Given the description of an element on the screen output the (x, y) to click on. 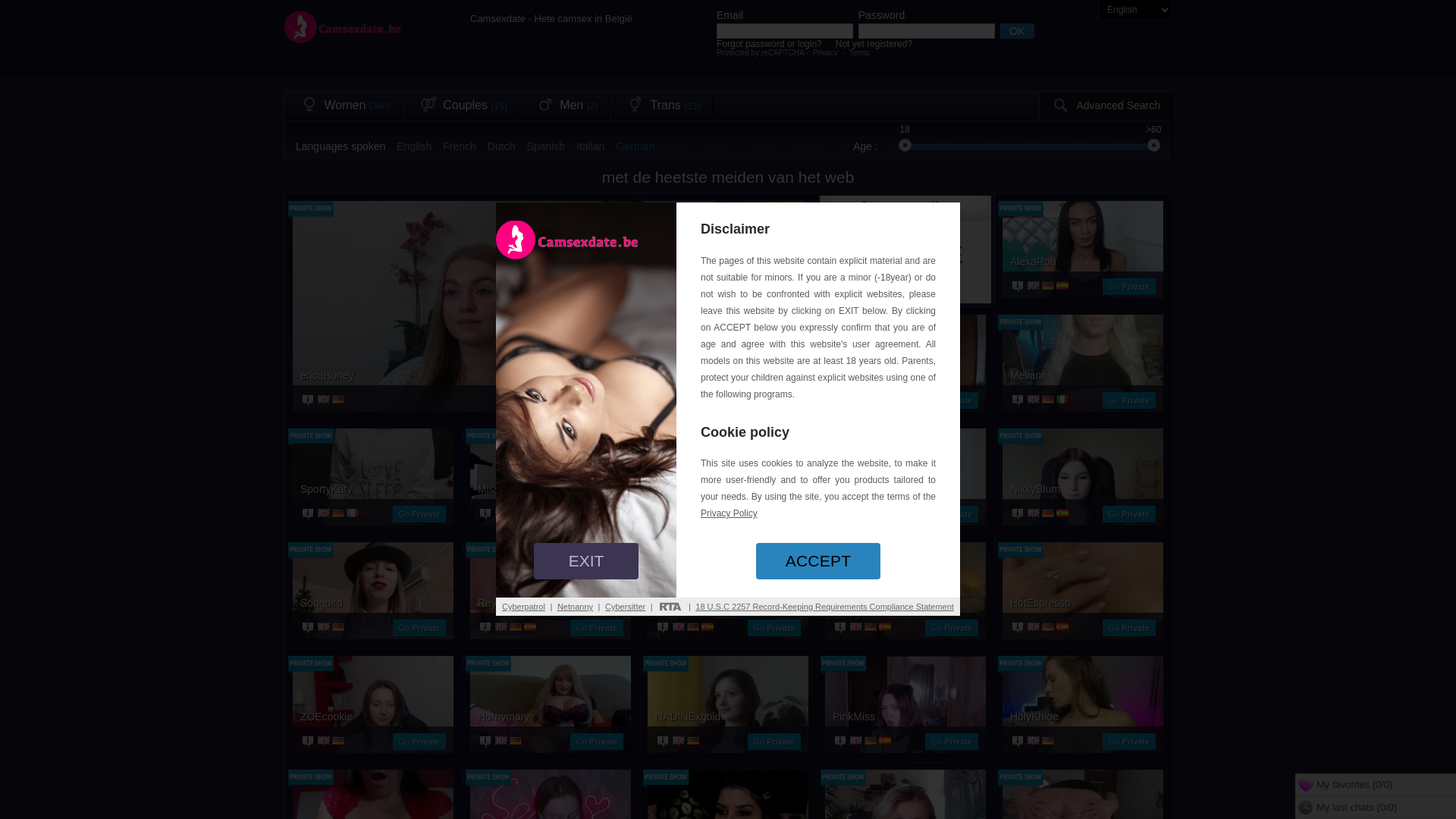
Profile Element type: text (486, 741)
Profile Element type: text (663, 514)
ACCEPT Element type: text (818, 560)
Profile Element type: text (663, 741)
At least 4 characters Element type: hover (784, 30)
Spanish Element type: text (545, 146)
Terms Element type: text (859, 52)
Privacy Policy Element type: text (728, 513)
Profile Element type: text (486, 627)
MissKathleen - Sexcam Element type: hover (550, 488)
Go Private Element type: text (418, 741)
PinkMiss - Sexcam Element type: hover (905, 715)
French Element type: text (459, 146)
Netnanny Element type: text (575, 606)
Profile Element type: text (663, 400)
Go Private Element type: text (596, 741)
Go Private Element type: text (1128, 400)
Go Private Element type: text (951, 513)
Songbird - Sexcam Element type: hover (372, 602)
Profile Element type: text (663, 627)
Cyberpatrol Element type: text (523, 606)
At least 5 characters Element type: hover (926, 30)
Go Private Element type: text (1128, 627)
Baiser - Sexcam Element type: hover (727, 602)
BriannaDans - Sexcam Element type: hover (905, 602)
Profile Element type: text (1018, 514)
SportyKaty - Sexcam Element type: hover (372, 488)
HotEspresso - Sexcam Element type: hover (1082, 602)
Go Private Element type: text (418, 513)
ReynaJones - Sexcam Element type: hover (550, 602)
AlexaRoa - Sexcam Element type: hover (1082, 260)
English Element type: text (413, 146)
Profile Element type: text (1018, 741)
NADINExgold - Sexcam Element type: hover (727, 715)
Go Private Element type: text (773, 400)
Women (340) Element type: text (343, 105)
Men (2) Element type: text (564, 105)
German Element type: text (634, 146)
Go Private Element type: text (951, 627)
Profile Element type: text (1018, 400)
LadyAngel - Sexcam Element type: hover (727, 374)
Privacy Element type: text (824, 52)
Go Private Element type: text (773, 513)
MistyLady - Sexcam Element type: hover (905, 488)
ZOEcookie - Sexcam Element type: hover (372, 715)
Mellanii - Sexcam Element type: hover (1082, 374)
Cybersitter Element type: text (625, 606)
SexCommune - Sexcam Element type: hover (727, 260)
Go Private Element type: text (773, 627)
Go Private Element type: text (1128, 741)
Discovery offer
25
CREDITS
FREE
Sign me up! Element type: text (905, 230)
Italian Element type: text (590, 146)
MargotTEASE - Sexcam Element type: hover (905, 374)
Not yet registered? Element type: text (873, 43)
Profile Element type: text (840, 514)
Go Private Element type: text (596, 513)
Go Private Element type: text (1128, 286)
Go Private Element type: text (418, 627)
Profile Element type: text (308, 400)
Profile Element type: text (840, 627)
Profile Element type: text (308, 741)
Go Private Element type: text (596, 627)
Go Private Element type: text (773, 286)
Profile Element type: text (840, 400)
OK Element type: text (1016, 30)
Profile Element type: text (1018, 286)
Hornymary - Sexcam Element type: hover (550, 715)
EmilySense - Sexcam Element type: hover (727, 488)
Couples (15) Element type: text (460, 105)
Go Private Element type: text (951, 400)
Trans (13) Element type: text (660, 105)
NikkyBlum - Sexcam Element type: hover (1082, 488)
HolyKhloe - Sexcam Element type: hover (1082, 715)
Dutch Element type: text (501, 146)
Go Private Element type: text (1128, 513)
ericaHoney - Sexcam Element type: hover (461, 327)
Profile Element type: text (1018, 627)
Profile Element type: text (308, 627)
Go Private Element type: text (596, 400)
Forgot password or login? Element type: text (769, 43)
Profile Element type: text (663, 286)
EXIT Element type: text (585, 560)
Advanced Search Element type: text (1104, 105)
Profile Element type: text (486, 514)
Profile Element type: text (308, 514)
Profile Element type: text (840, 741)
Go Private Element type: text (951, 741)
Go Private Element type: text (773, 741)
